Given the description of an element on the screen output the (x, y) to click on. 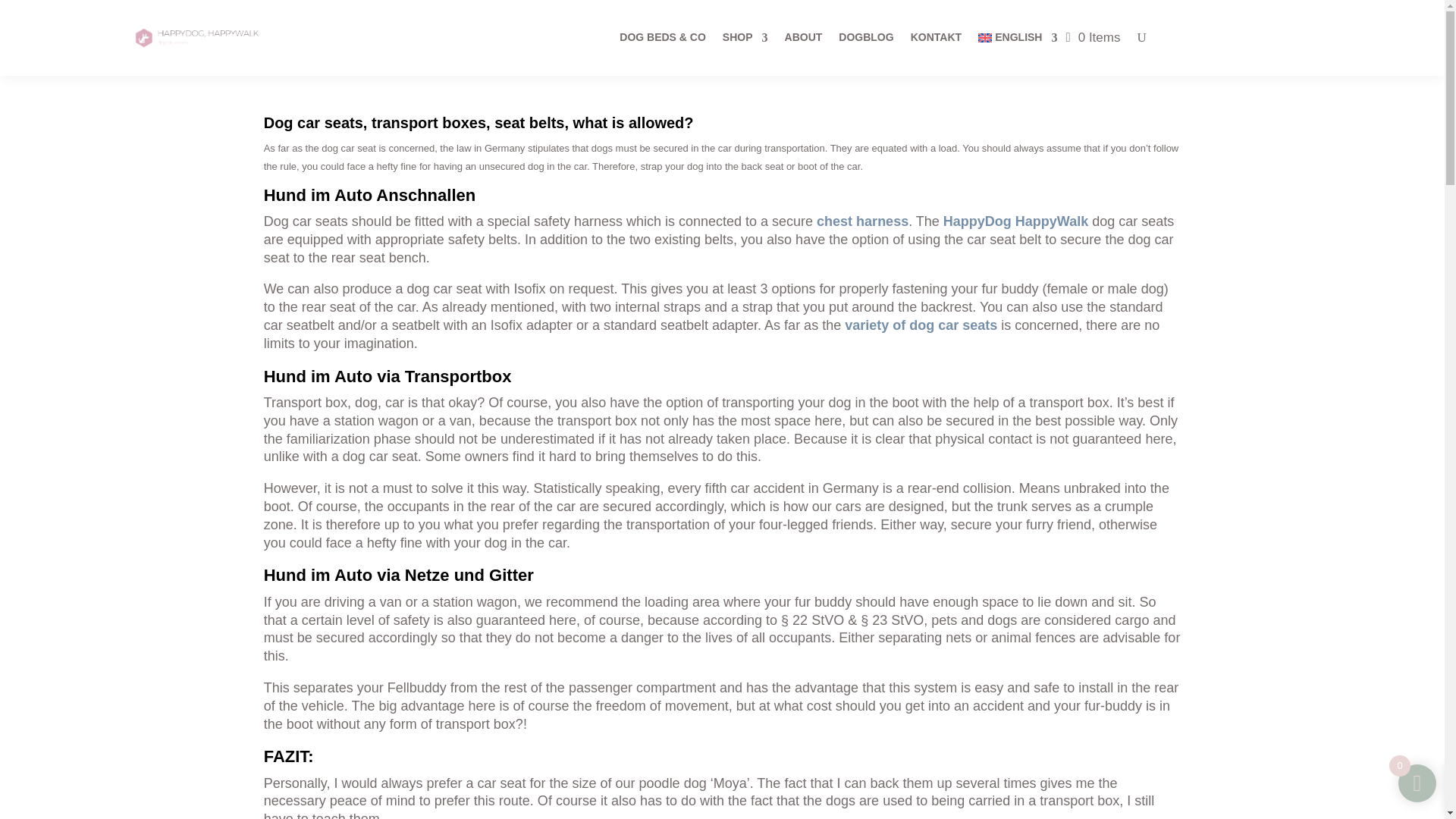
variety of dog car seats (920, 324)
English (1017, 37)
chest harness (862, 221)
ENGLISH (1017, 37)
HappyDog HappyWalk (1015, 221)
